Given the description of an element on the screen output the (x, y) to click on. 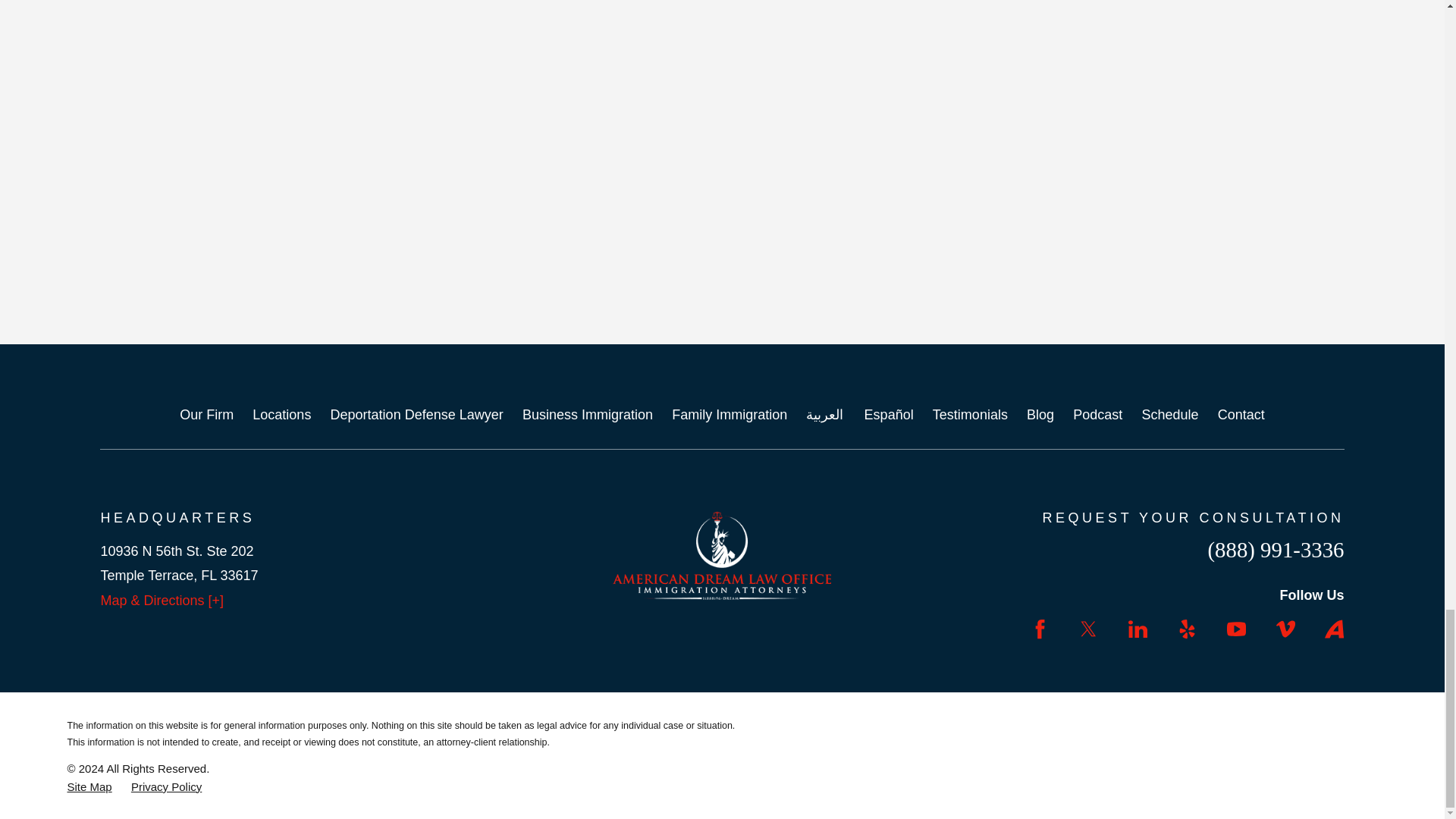
Home (721, 554)
Yelp (1186, 628)
Facebook (1039, 628)
LinkedIn (1137, 628)
Twitter (1087, 628)
